Given the description of an element on the screen output the (x, y) to click on. 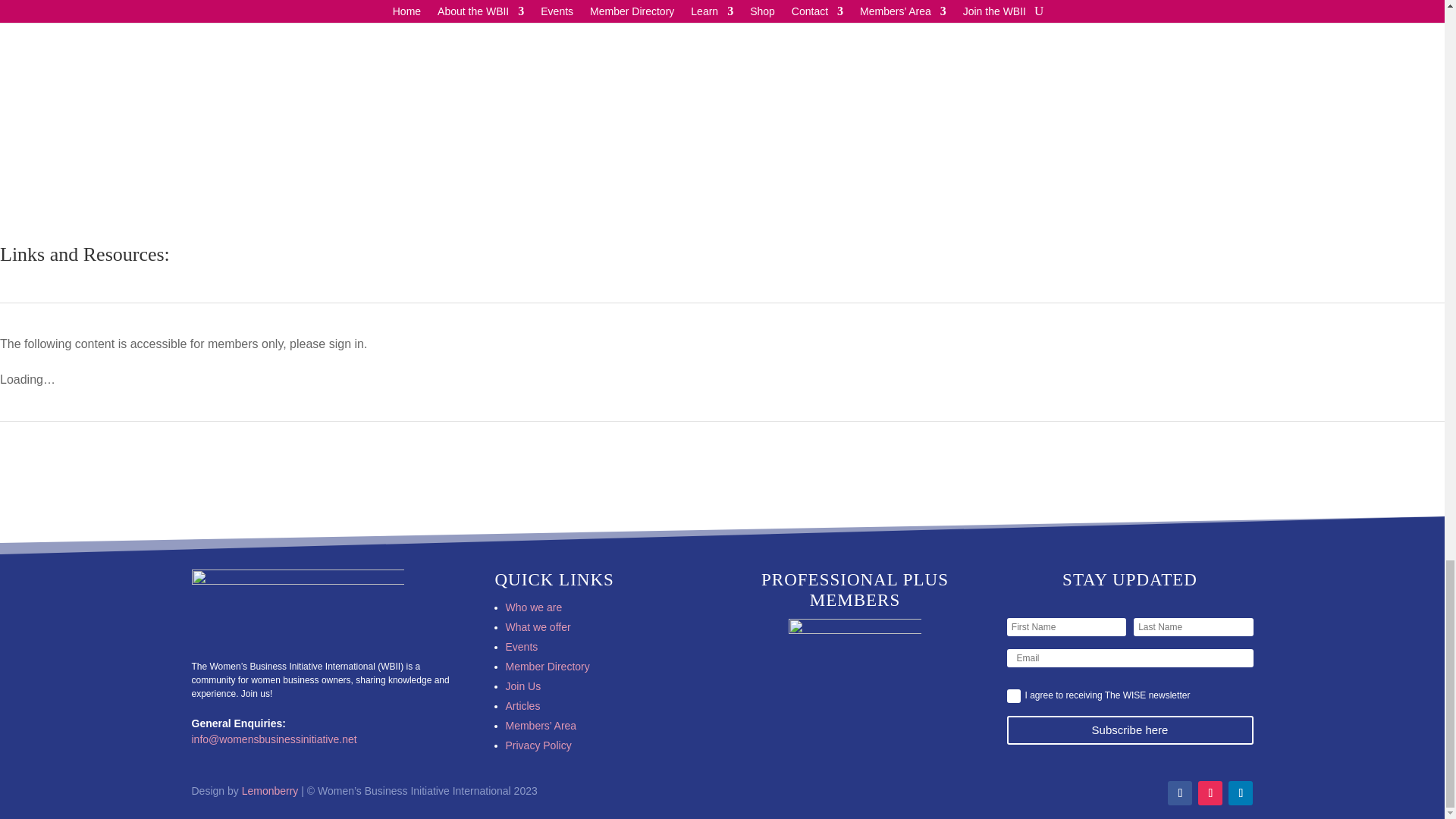
Who we are (533, 607)
WBII Networking August Screenshot 2022-08-25 Johanne (448, 114)
Follow on LinkedIn (1240, 793)
Articles (522, 705)
Join Us (522, 686)
Life Balanz (855, 691)
WBII Networking August Screenshot 2022-08-25 Gallery View (995, 114)
Follow on Facebook (1179, 793)
Events (521, 646)
Member Directory (547, 666)
